Given the description of an element on the screen output the (x, y) to click on. 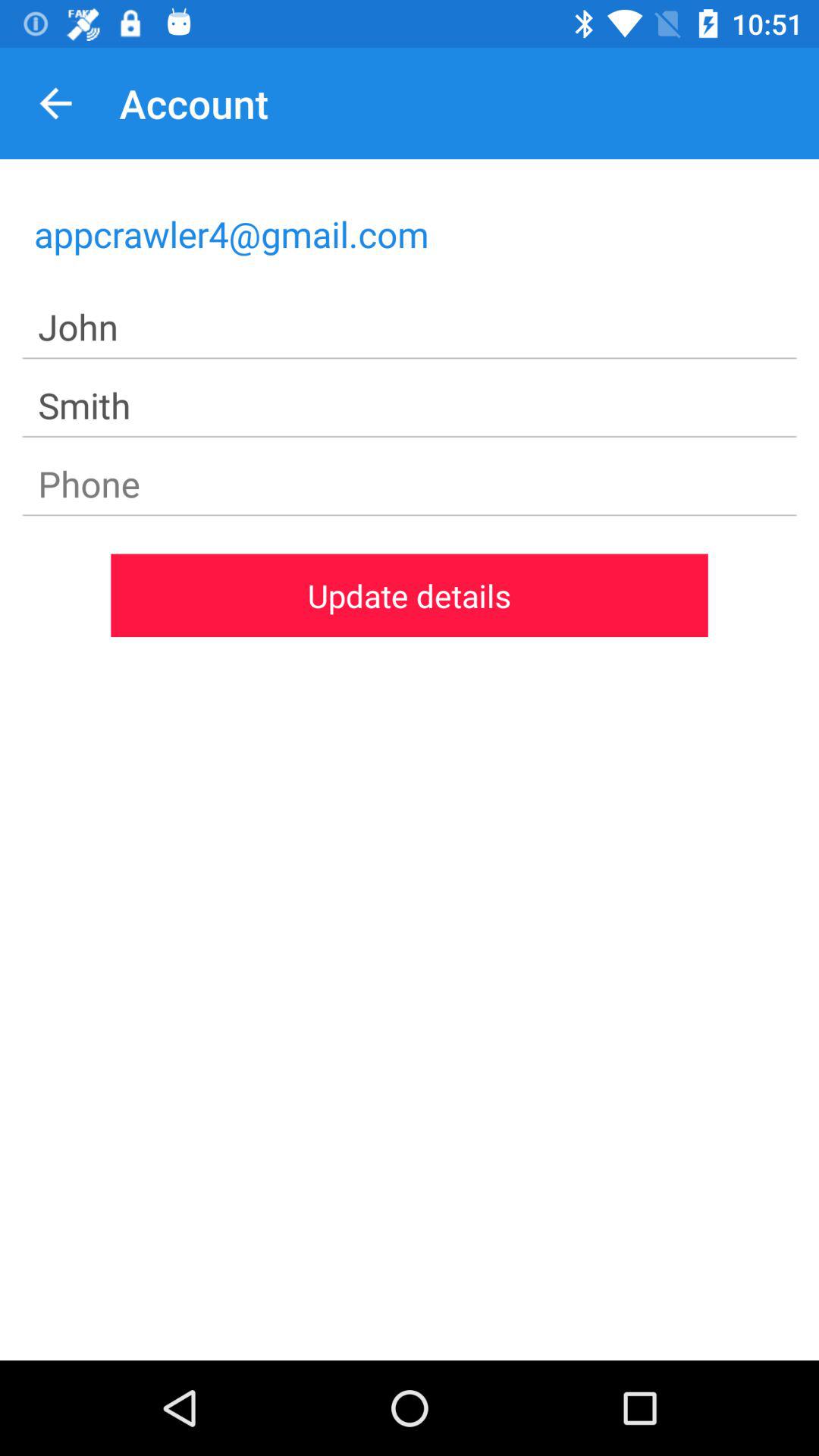
select the icon below the smith (409, 484)
